Given the description of an element on the screen output the (x, y) to click on. 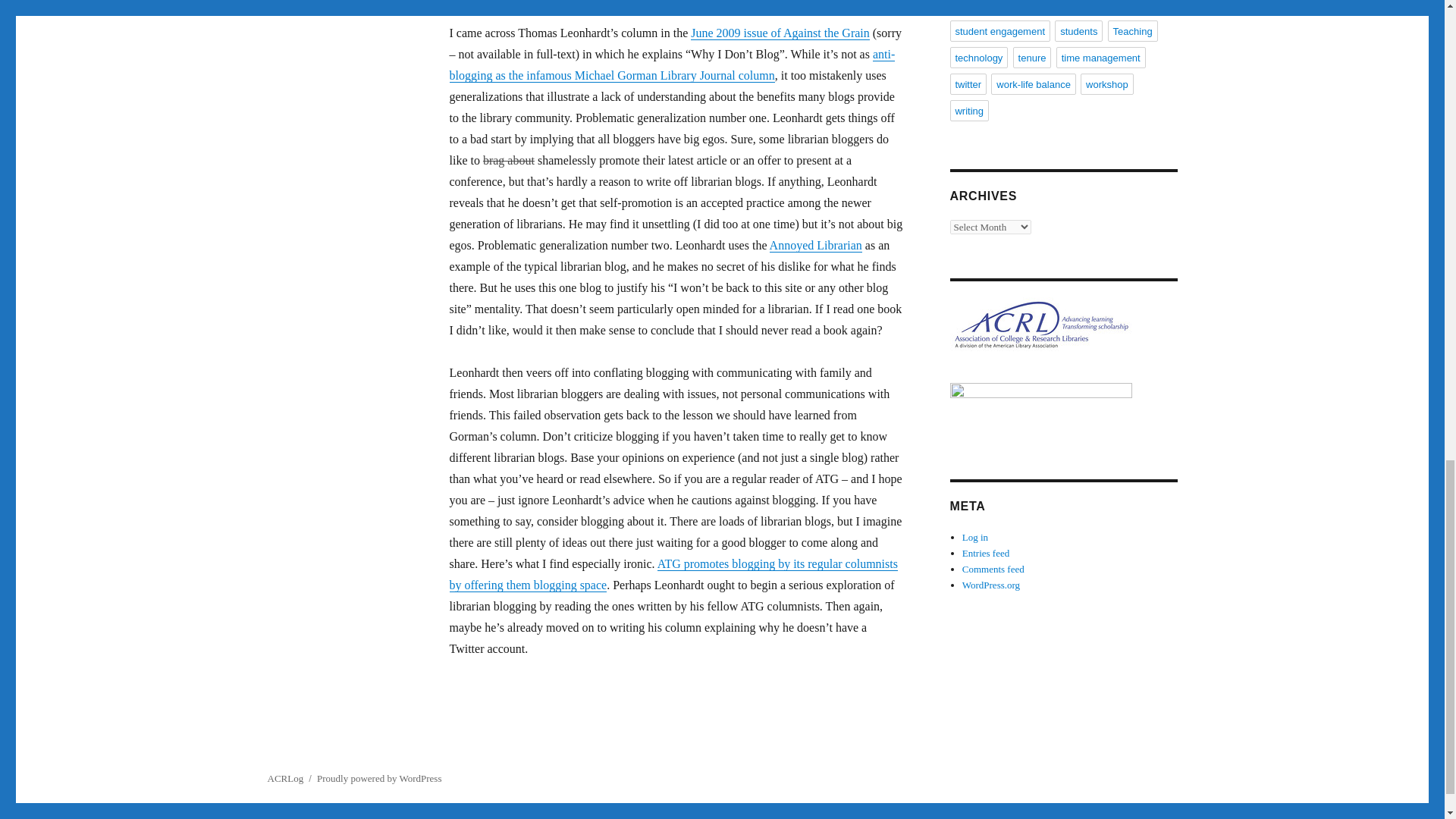
Annoyed Librarian (815, 245)
June 2009 issue of Against the Grain (779, 32)
